Given the description of an element on the screen output the (x, y) to click on. 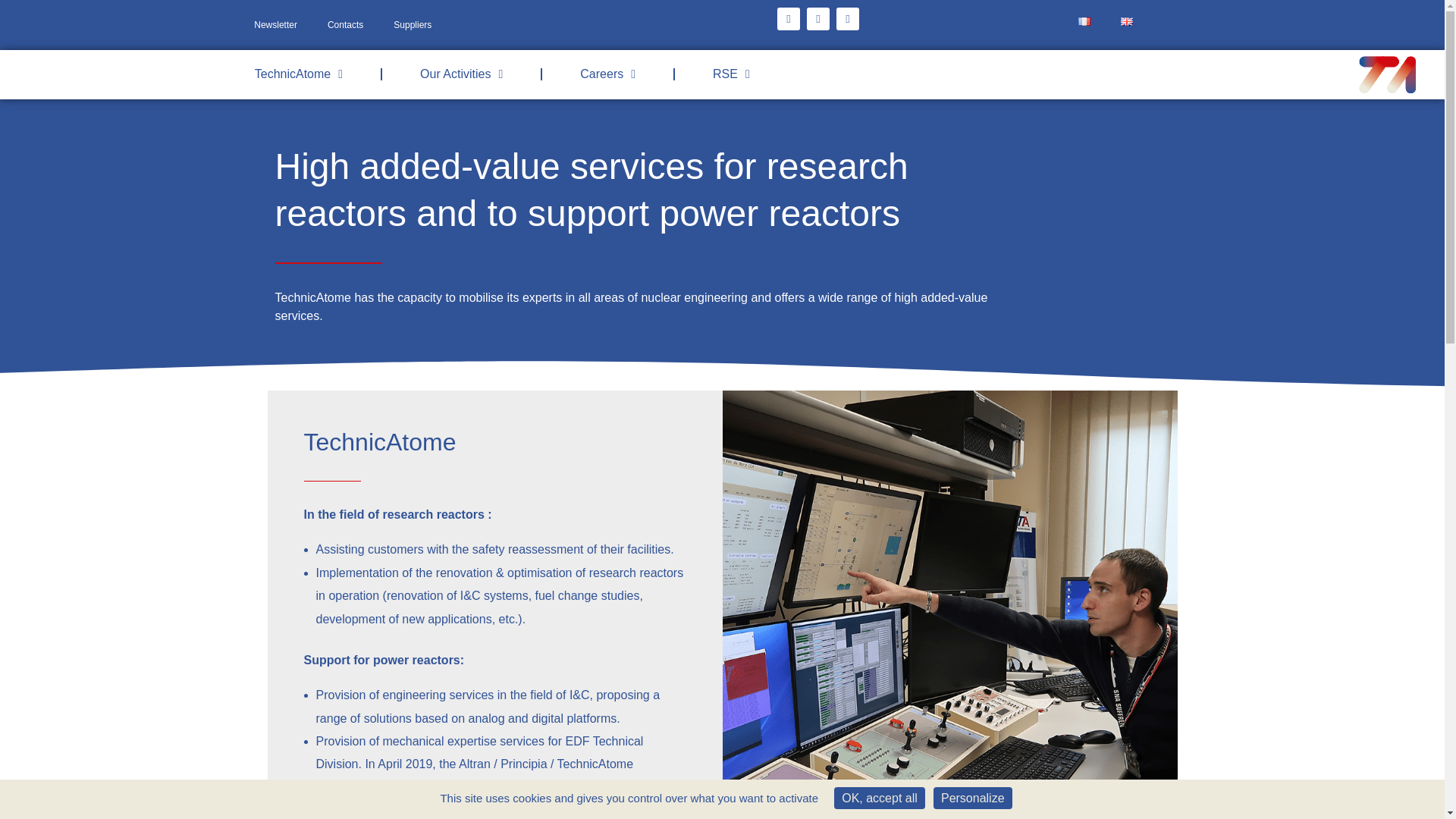
TechnicAtome (298, 73)
Contacts (345, 24)
Newsletter (275, 24)
Youtube (847, 18)
Linkedin-in (817, 18)
Our Activities (460, 73)
Suppliers (412, 24)
Twitter (788, 18)
